Given the description of an element on the screen output the (x, y) to click on. 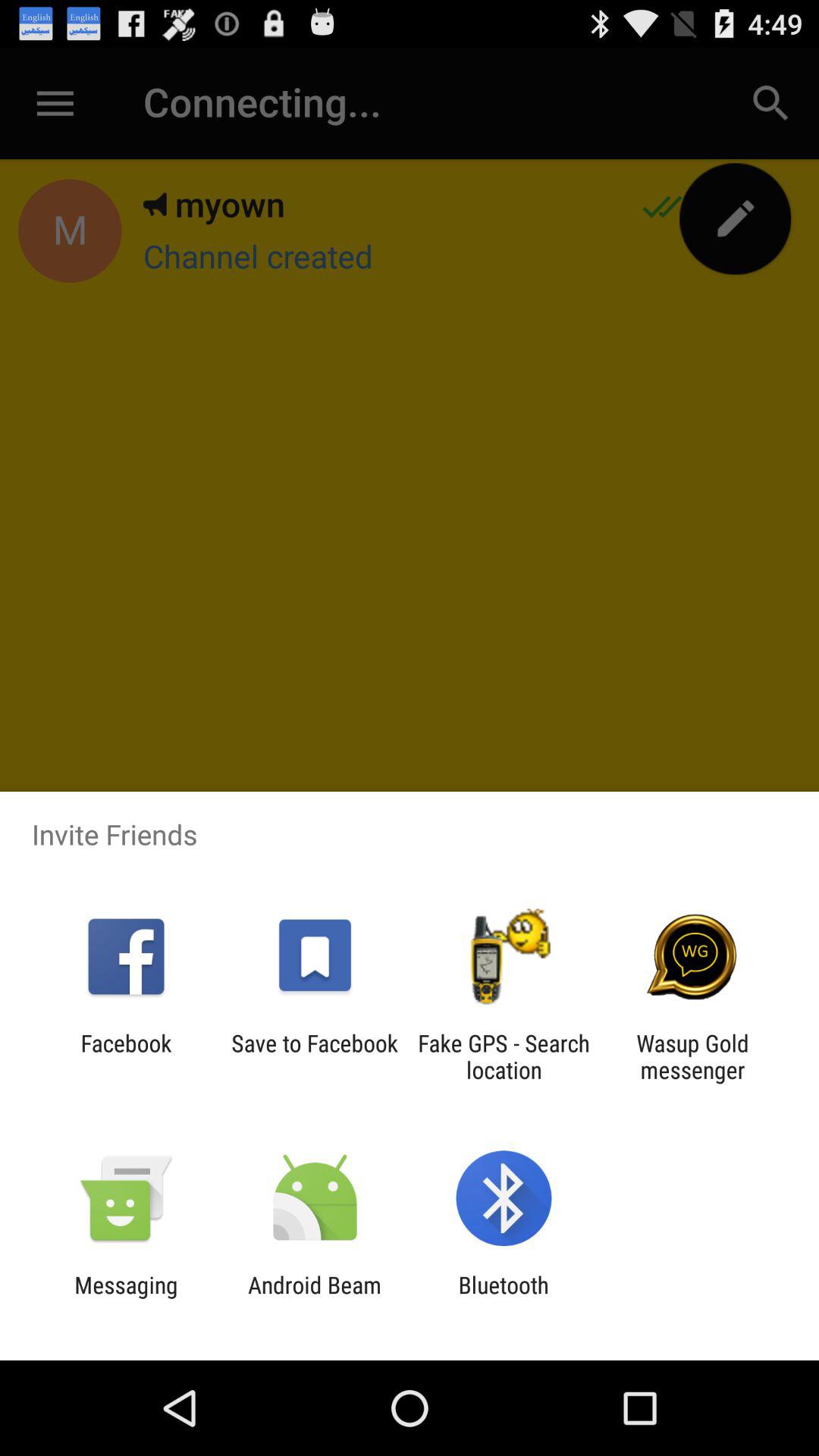
tap wasup gold messenger at the bottom right corner (692, 1056)
